Given the description of an element on the screen output the (x, y) to click on. 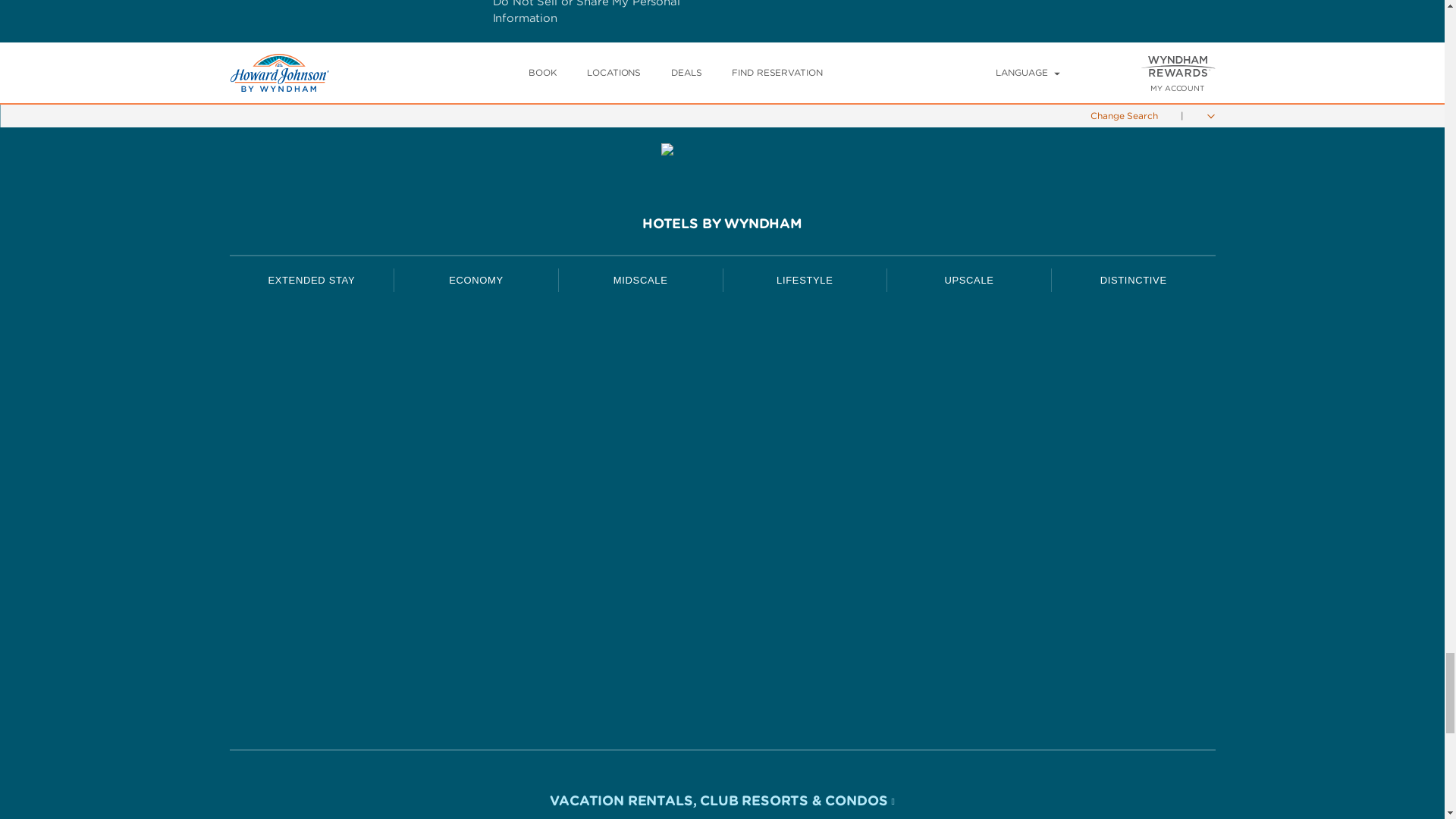
Travelodge (475, 562)
Wyndham Garden (640, 448)
Microtel by Wyndham (475, 445)
Microtel by Wyndham (475, 448)
Baymont (640, 562)
La Quinta (640, 335)
TRYP by Wyndham (803, 332)
Baymont (640, 559)
Ramada Ecore (640, 672)
Days Inn (475, 335)
Travelodge (475, 559)
Esplendor by Wyndham (803, 389)
Ramada Worldwide (640, 618)
Super 8 (475, 391)
Hawthorn Suites by Wyndham (311, 332)
